Given the description of an element on the screen output the (x, y) to click on. 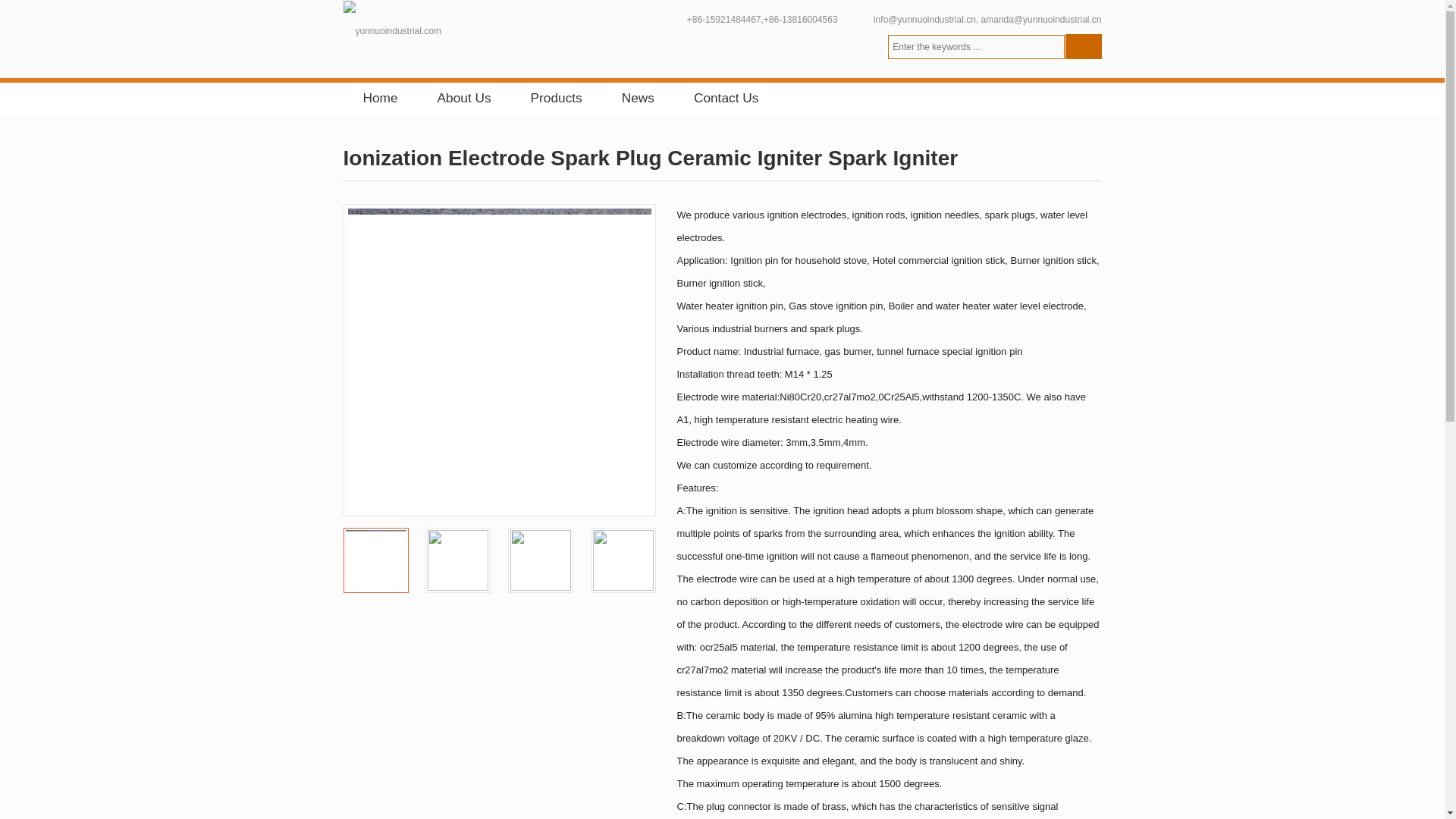
About Us (464, 97)
News (638, 97)
Home (379, 97)
Products (556, 97)
Search (1082, 46)
Contact Us (725, 97)
yunnuoindustrial.com (391, 30)
